Given the description of an element on the screen output the (x, y) to click on. 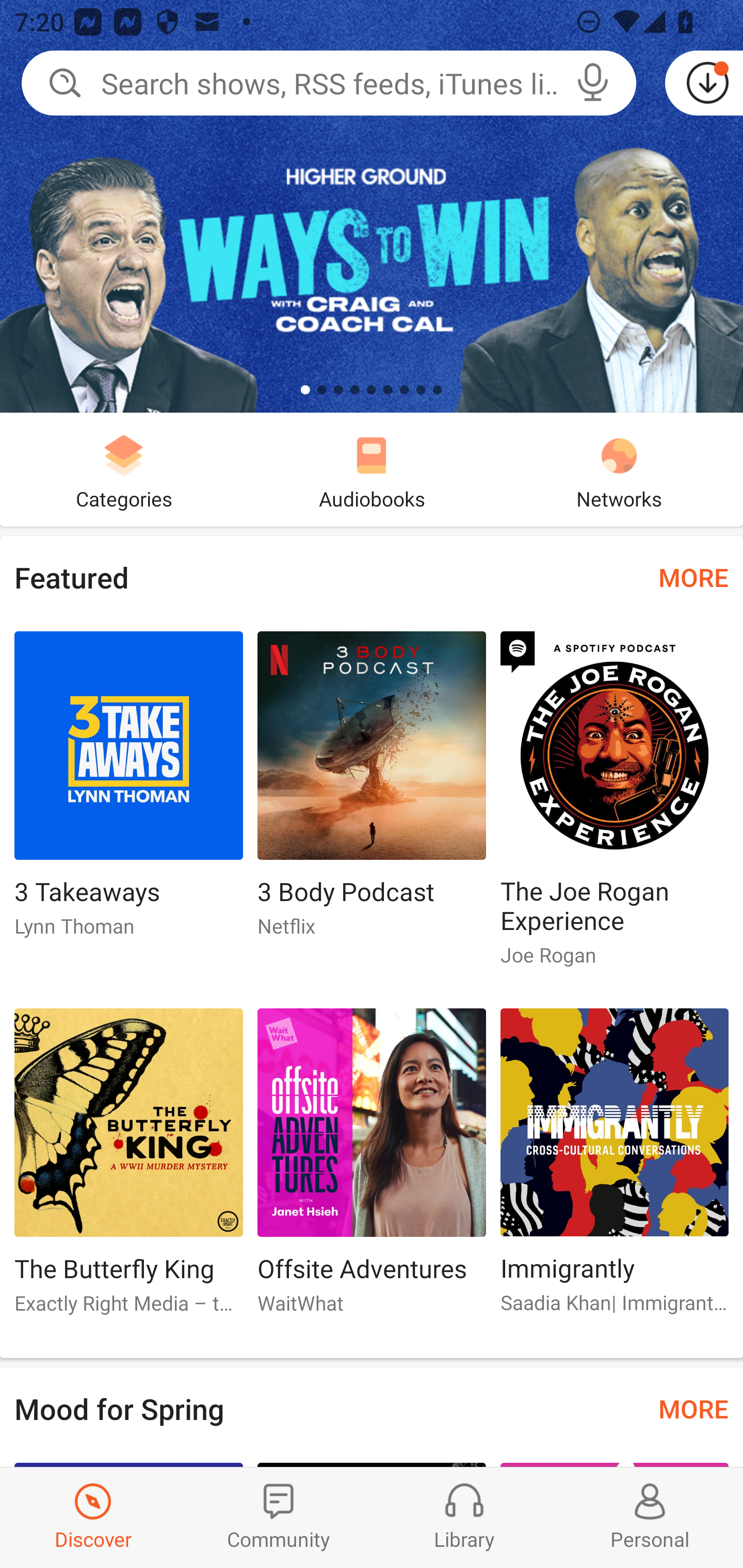
Ways To Win (371, 206)
Categories (123, 469)
Audiobooks (371, 469)
Networks (619, 469)
MORE (693, 576)
3 Takeaways 3 Takeaways Lynn Thoman (128, 792)
3 Body Podcast 3 Body Podcast Netflix (371, 792)
Offsite Adventures Offsite Adventures WaitWhat (371, 1169)
MORE (693, 1407)
Discover (92, 1517)
Community (278, 1517)
Library (464, 1517)
Profiles and Settings Personal (650, 1517)
